Given the description of an element on the screen output the (x, y) to click on. 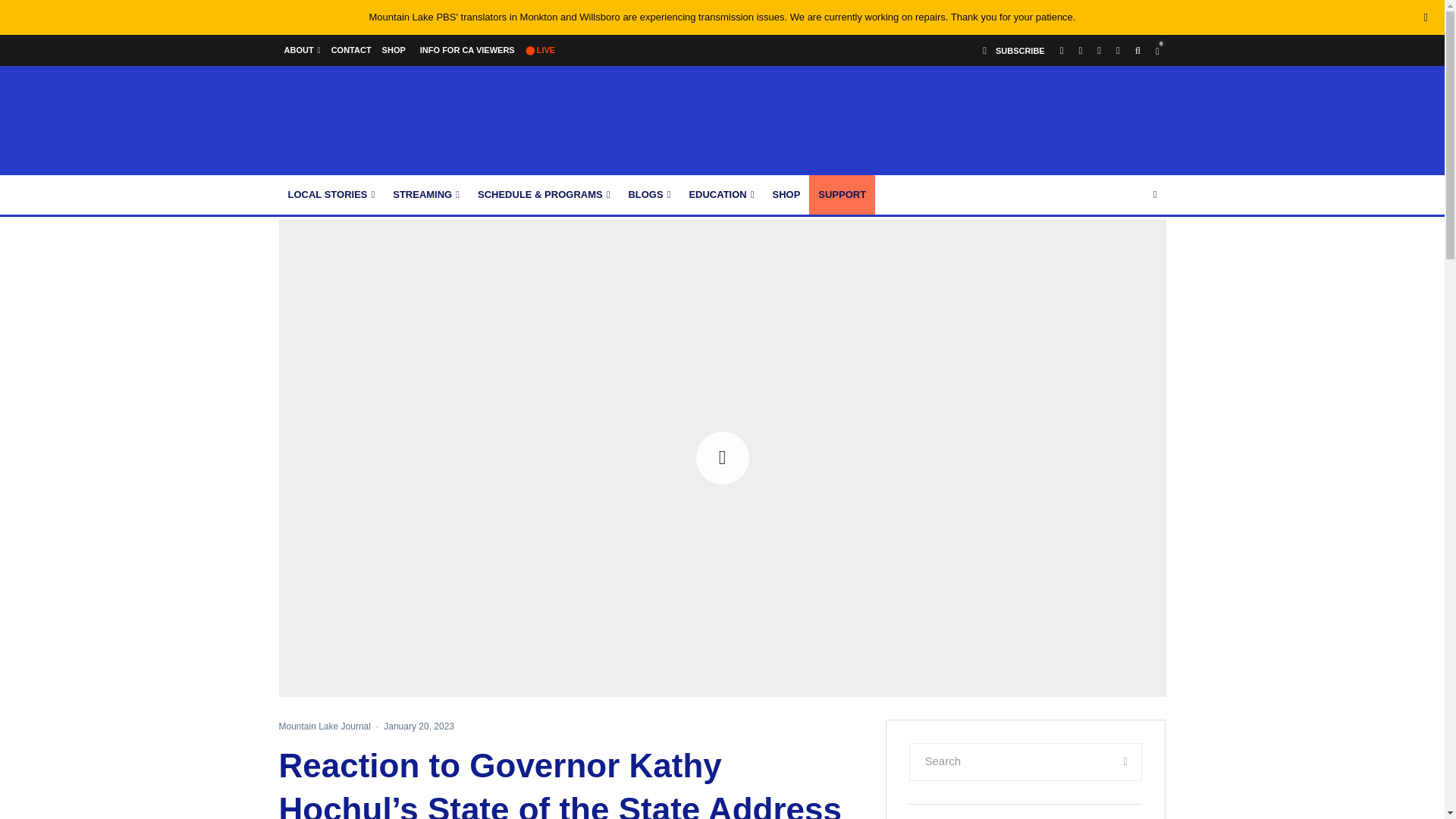
CONTACT (351, 50)
SUBSCRIBE (1013, 50)
ABOUT (302, 50)
INFO FOR CA VIEWERS (464, 50)
SHOP (393, 50)
LOCAL STORIES (331, 194)
